Given the description of an element on the screen output the (x, y) to click on. 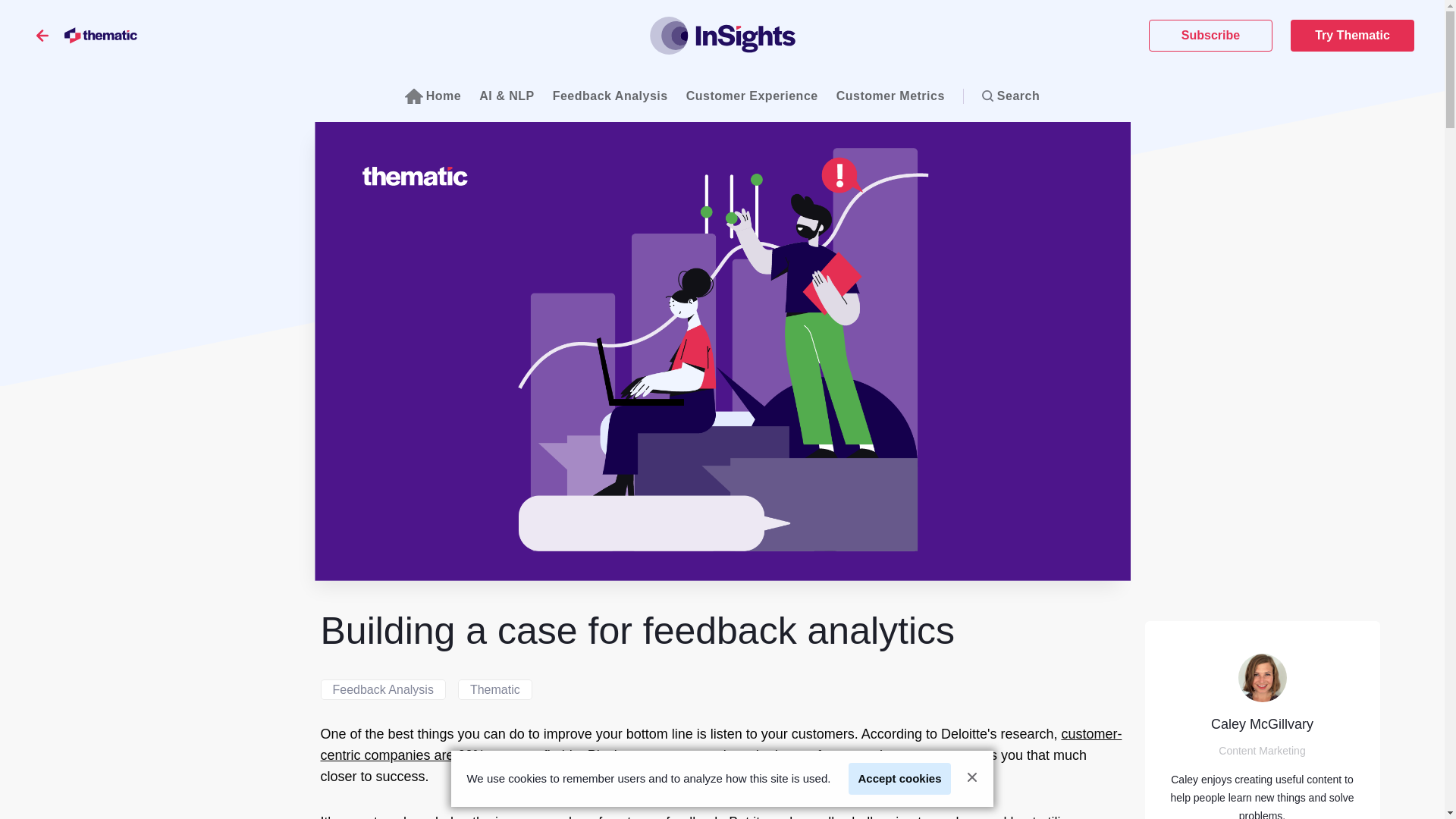
Customer Metrics (889, 96)
Home (432, 96)
Accept cookies (899, 778)
Feedback Analysis (382, 689)
Search (1010, 96)
Feedback Analysis (610, 96)
Subscribe (1210, 35)
Thematic (495, 689)
Try Thematic (1351, 35)
Customer Experience (751, 96)
